Given the description of an element on the screen output the (x, y) to click on. 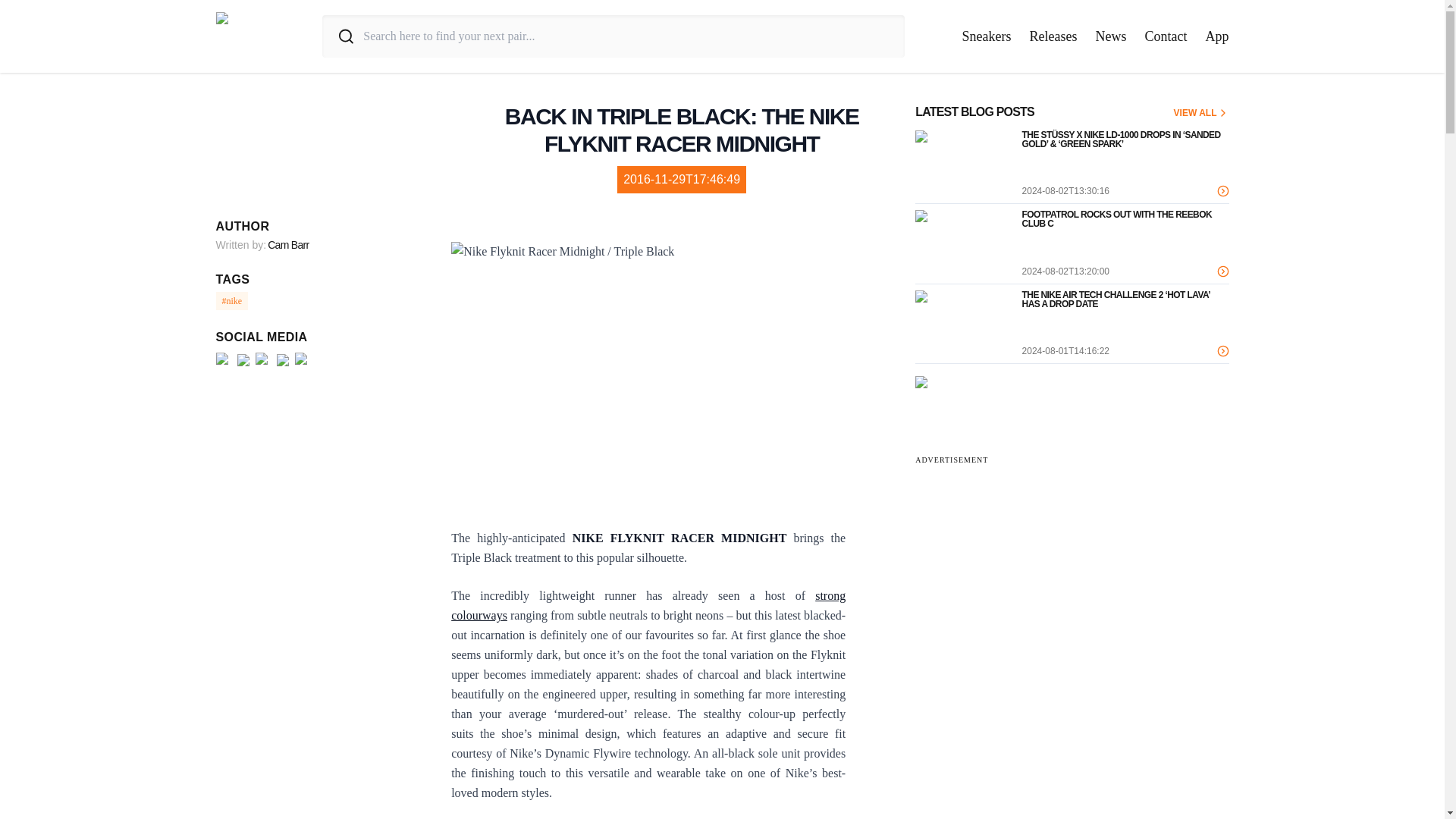
VIEW ALL (1200, 112)
App (1216, 36)
Sneakers (986, 36)
Contact (1166, 36)
News (1109, 36)
Releases (1053, 36)
strong colourways (648, 604)
